Given the description of an element on the screen output the (x, y) to click on. 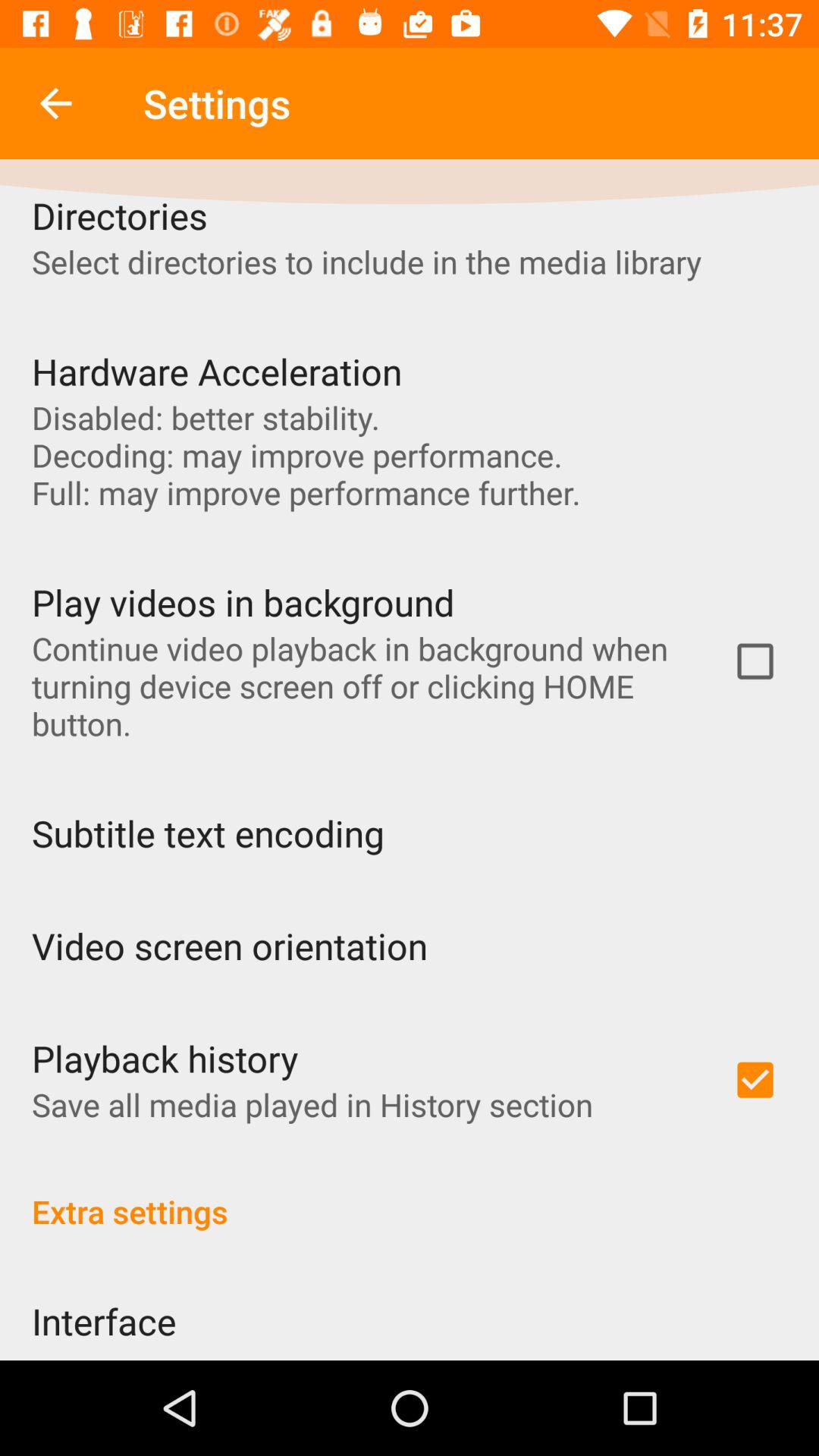
open the app next to settings (55, 103)
